Given the description of an element on the screen output the (x, y) to click on. 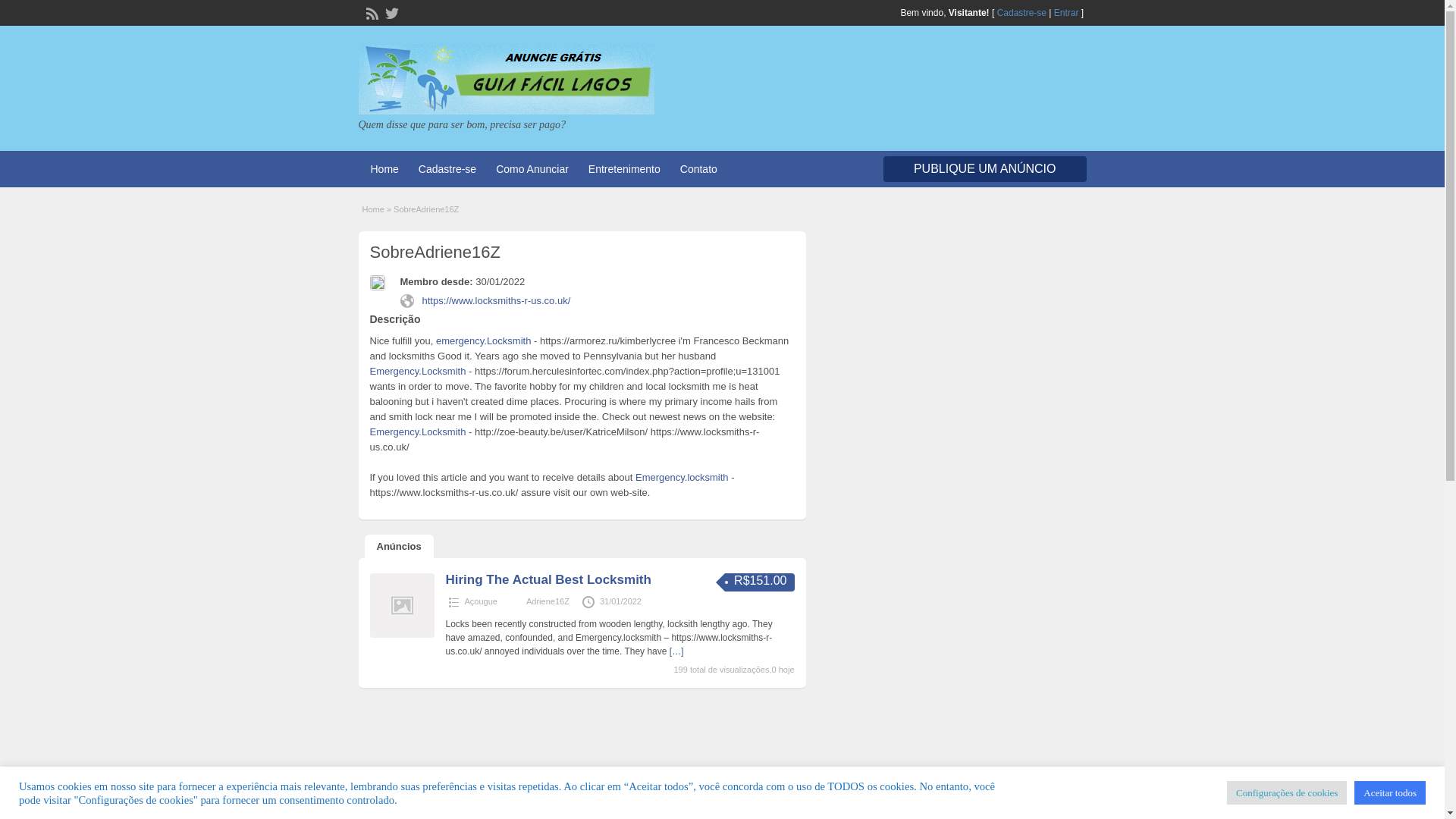
Hiring The Actual Best Locksmith (547, 579)
Twitter (390, 11)
Entretenimento (624, 168)
Adriene16Z (547, 601)
Emergency.Locksmith (417, 370)
Cadastre-se (446, 168)
Posts de Adriene16Z (547, 601)
Como Anunciar (531, 168)
Cadastre-se (1021, 12)
Home (384, 168)
